Given the description of an element on the screen output the (x, y) to click on. 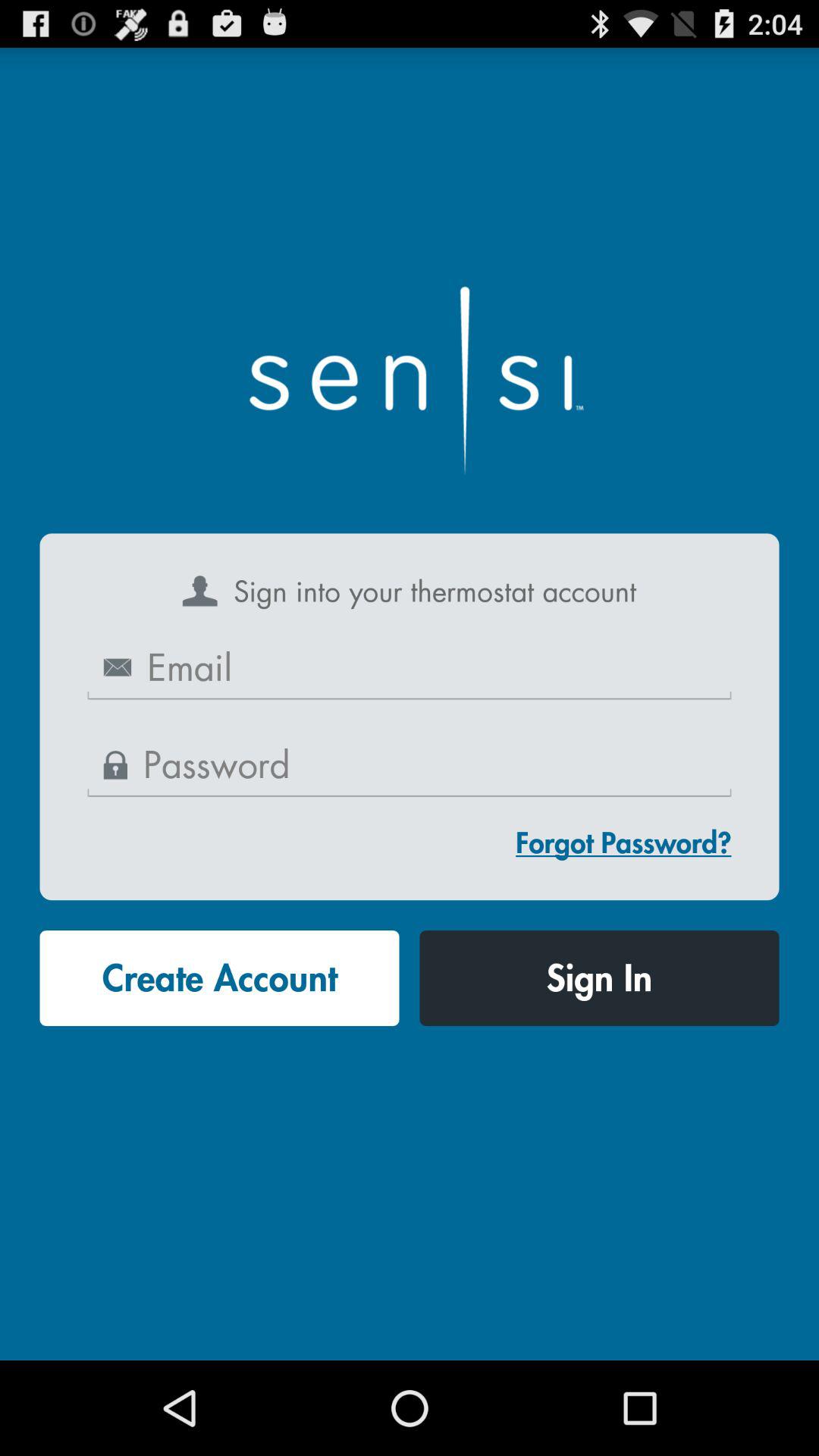
tap the sign in button (599, 978)
